Given the description of an element on the screen output the (x, y) to click on. 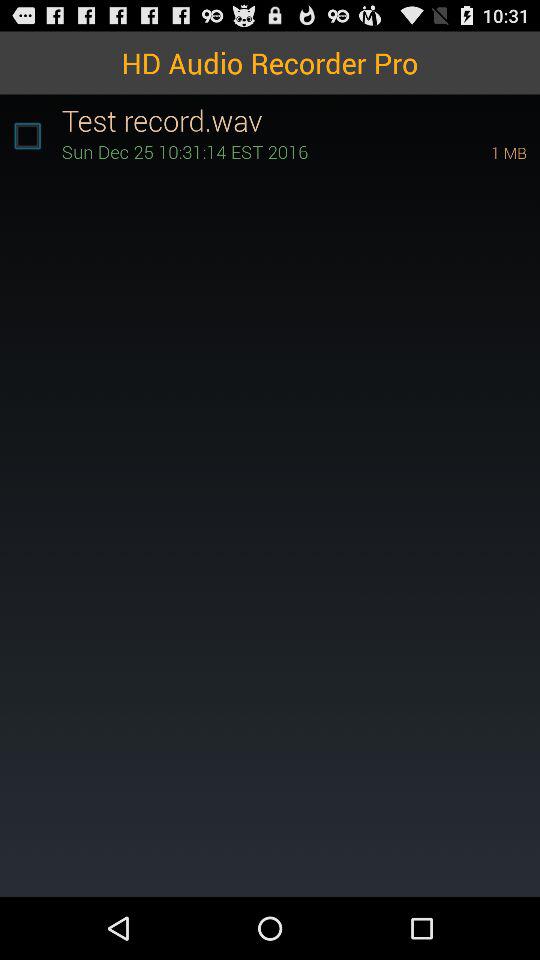
turn on the item below hd audio recorder (27, 136)
